Given the description of an element on the screen output the (x, y) to click on. 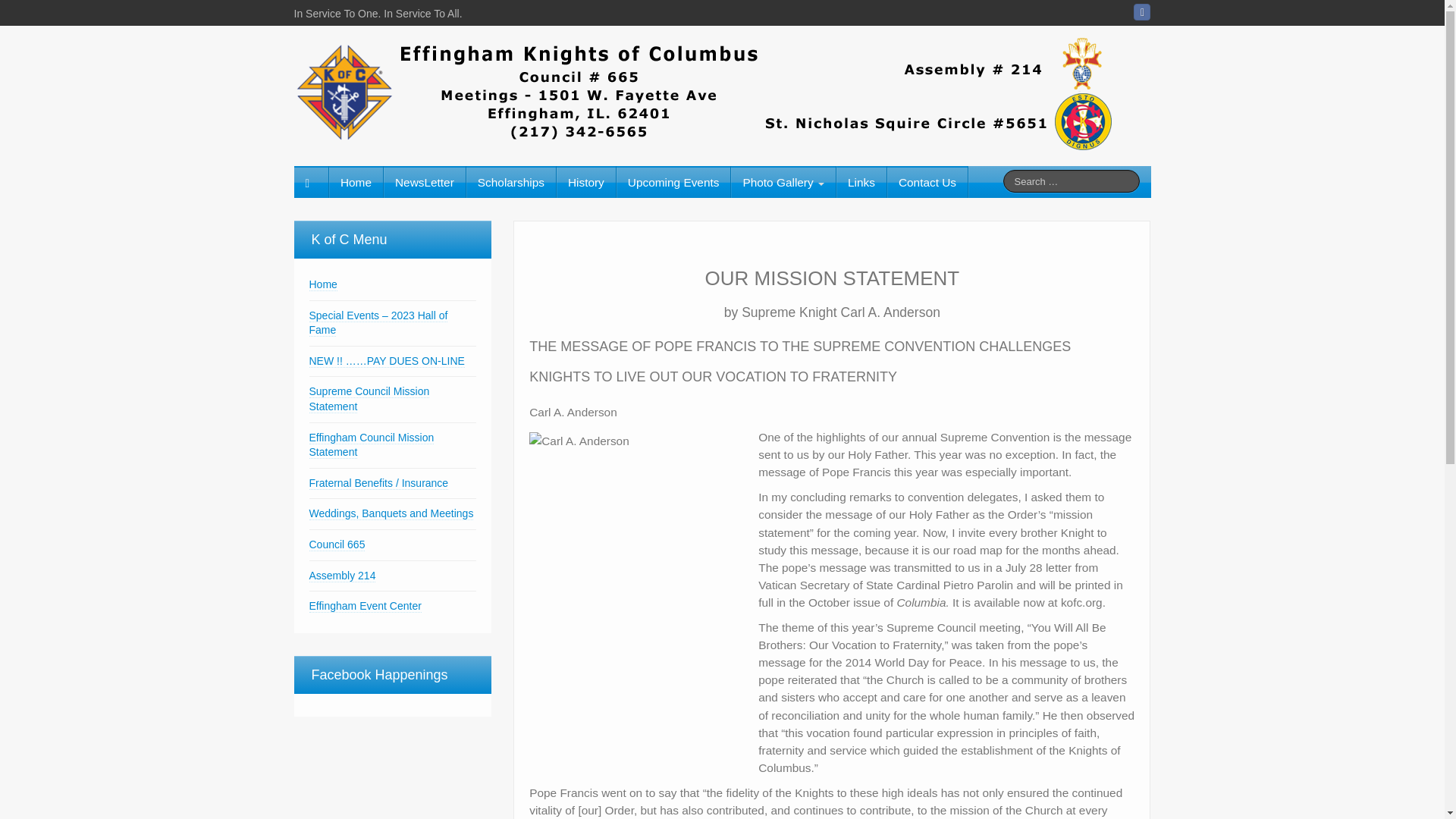
History (585, 182)
Scholarships (510, 182)
Contact Us (927, 182)
Links (860, 182)
Assembly 214 (341, 575)
Photo Gallery (782, 182)
Upcoming Events (672, 182)
Weddings, Banquets and Meetings (391, 513)
Effingham K of C Facebook (1142, 12)
Effingham Event Center (365, 605)
Council 665 (336, 544)
Supreme Council Mission Statement (368, 398)
Effingham Council Mission Statement (370, 445)
NewsLetter (424, 182)
Home (322, 284)
